Given the description of an element on the screen output the (x, y) to click on. 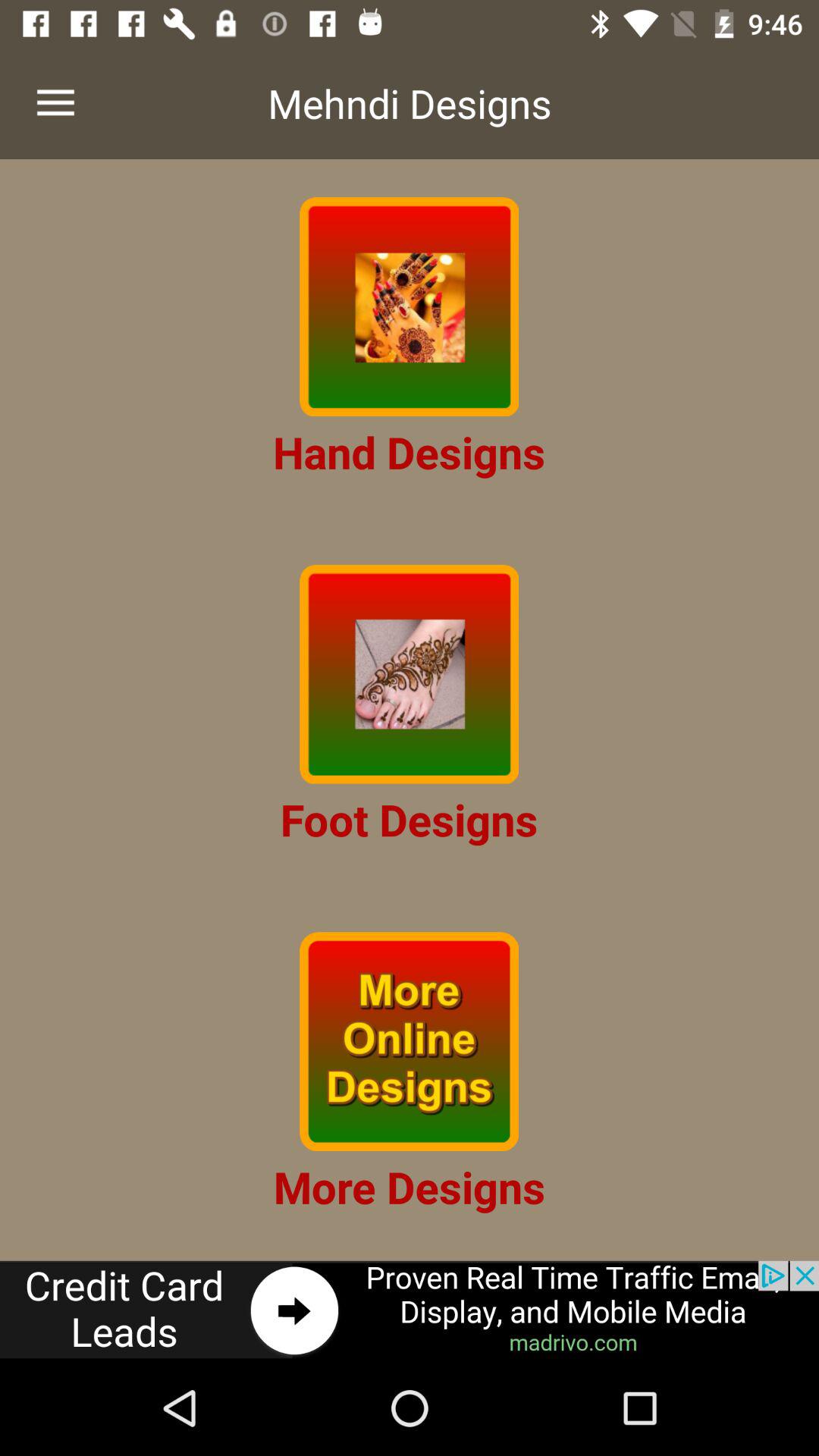
acess more online designs (408, 1041)
